Given the description of an element on the screen output the (x, y) to click on. 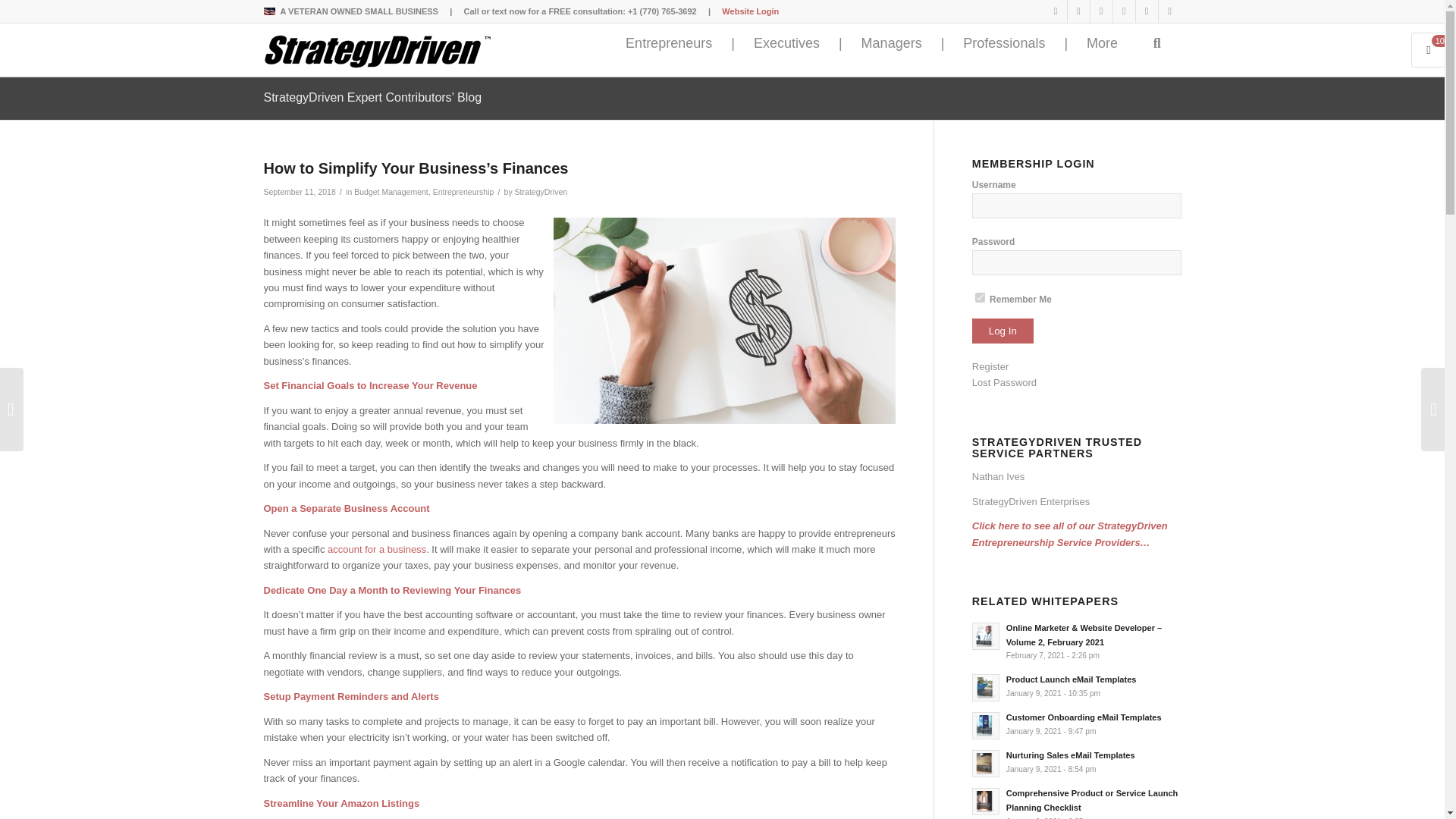
Youtube (1078, 11)
Pinterest (1169, 11)
Log In (1002, 330)
Twitter (1101, 11)
Entrepreneurs (668, 43)
Posts by StrategyDriven (541, 191)
Instagram (1146, 11)
forever (980, 297)
Website Login (750, 10)
StrategyDriven - a veteran owned small business (272, 11)
Facebook (1124, 11)
LinkedIn (1056, 11)
